Given the description of an element on the screen output the (x, y) to click on. 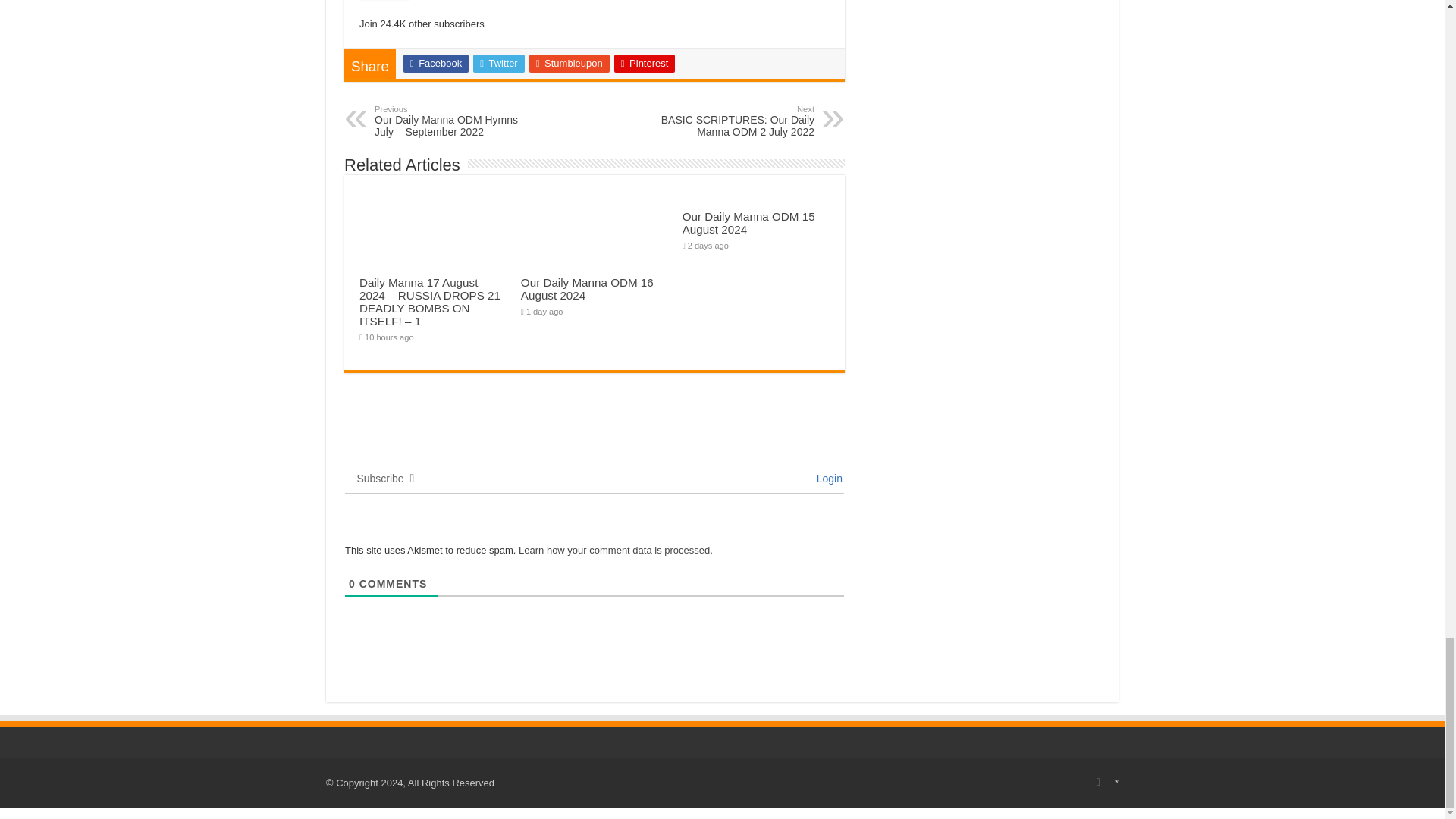
Login (827, 478)
Stumbleupon (569, 63)
Pinterest (736, 121)
Our Daily Manna ODM 15 August 2024 (644, 63)
Subscribe (748, 222)
Twitter (384, 0)
Facebook (498, 63)
Our Daily Manna ODM 16 August 2024 (435, 63)
